Given the description of an element on the screen output the (x, y) to click on. 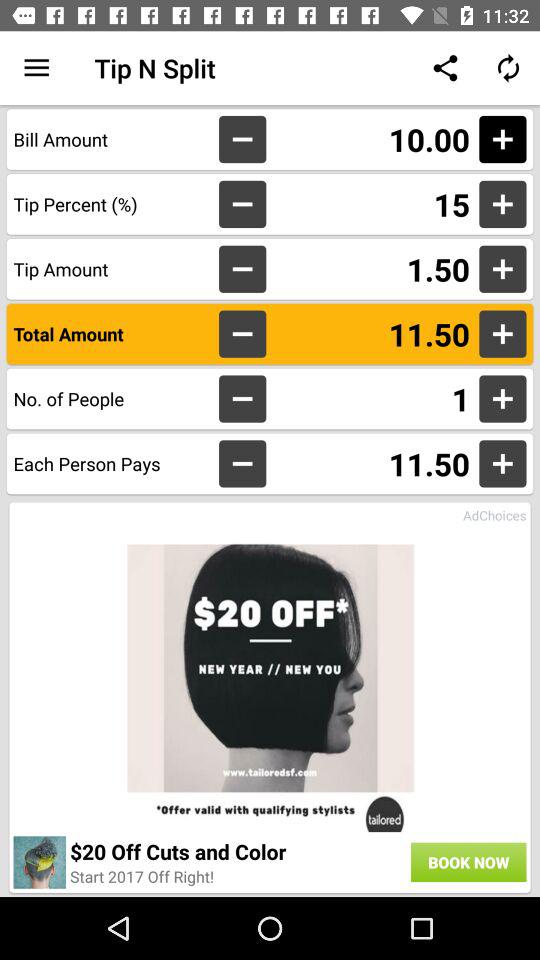
press the start 2017 off item (142, 876)
